Given the description of an element on the screen output the (x, y) to click on. 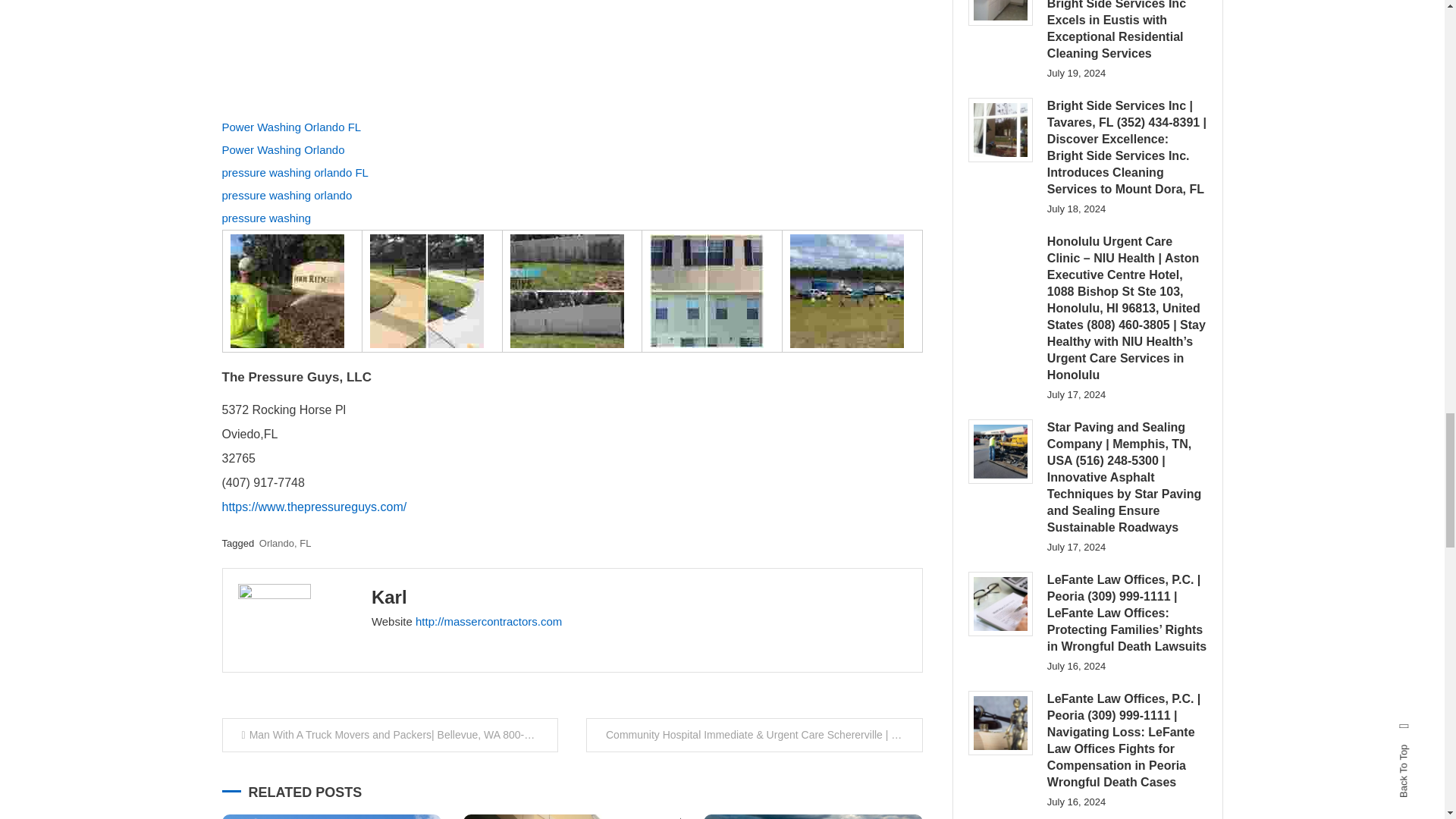
Posts by Karl (389, 597)
